Given the description of an element on the screen output the (x, y) to click on. 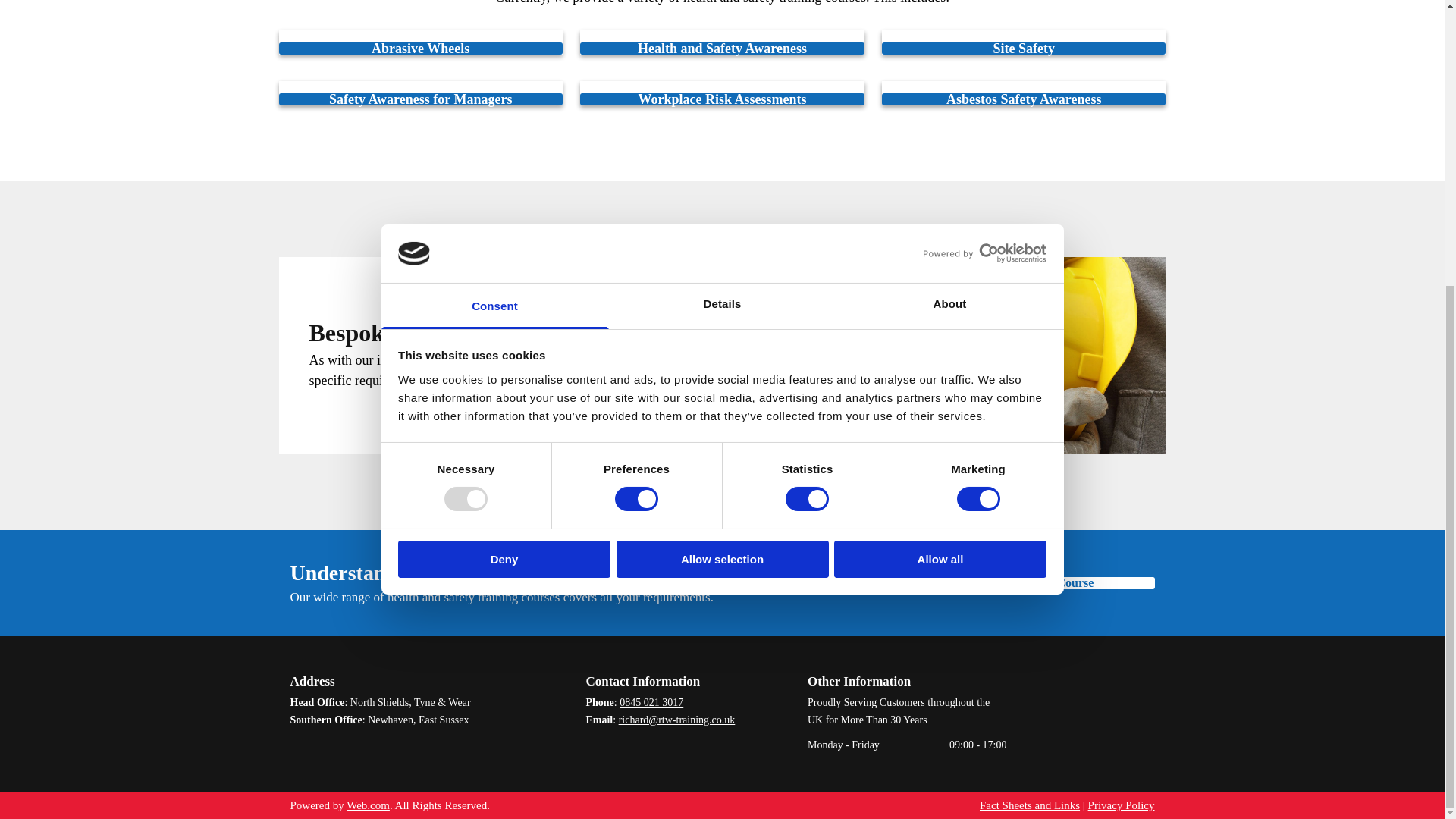
Allow selection (721, 128)
Deny (503, 128)
Allow all (940, 128)
